Given the description of an element on the screen output the (x, y) to click on. 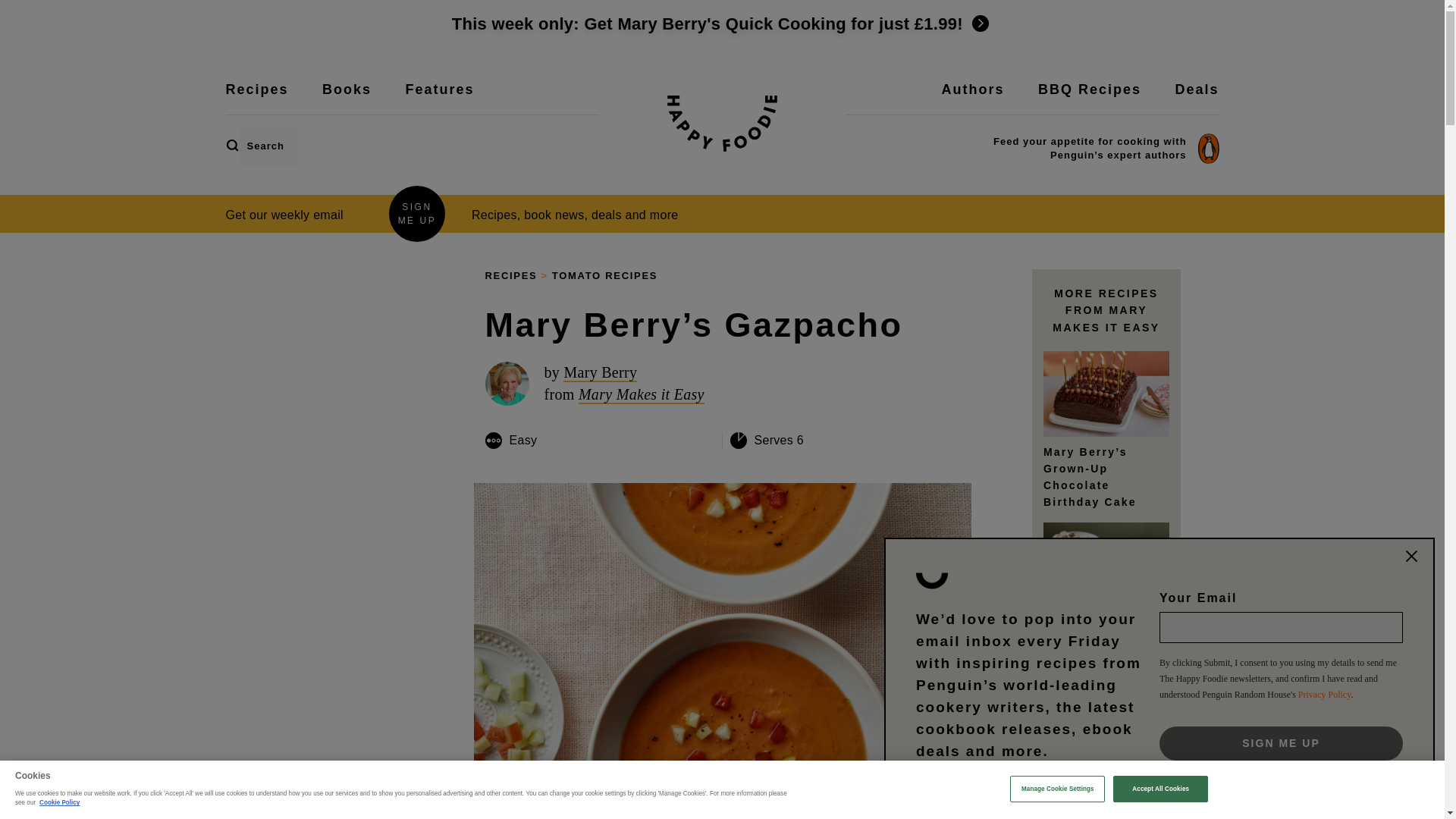
BBQ Recipes (1089, 98)
Authors (973, 98)
Recipes (256, 98)
Features (439, 98)
Books (346, 98)
Sign me up (1280, 743)
Deals (1196, 98)
